Given the description of an element on the screen output the (x, y) to click on. 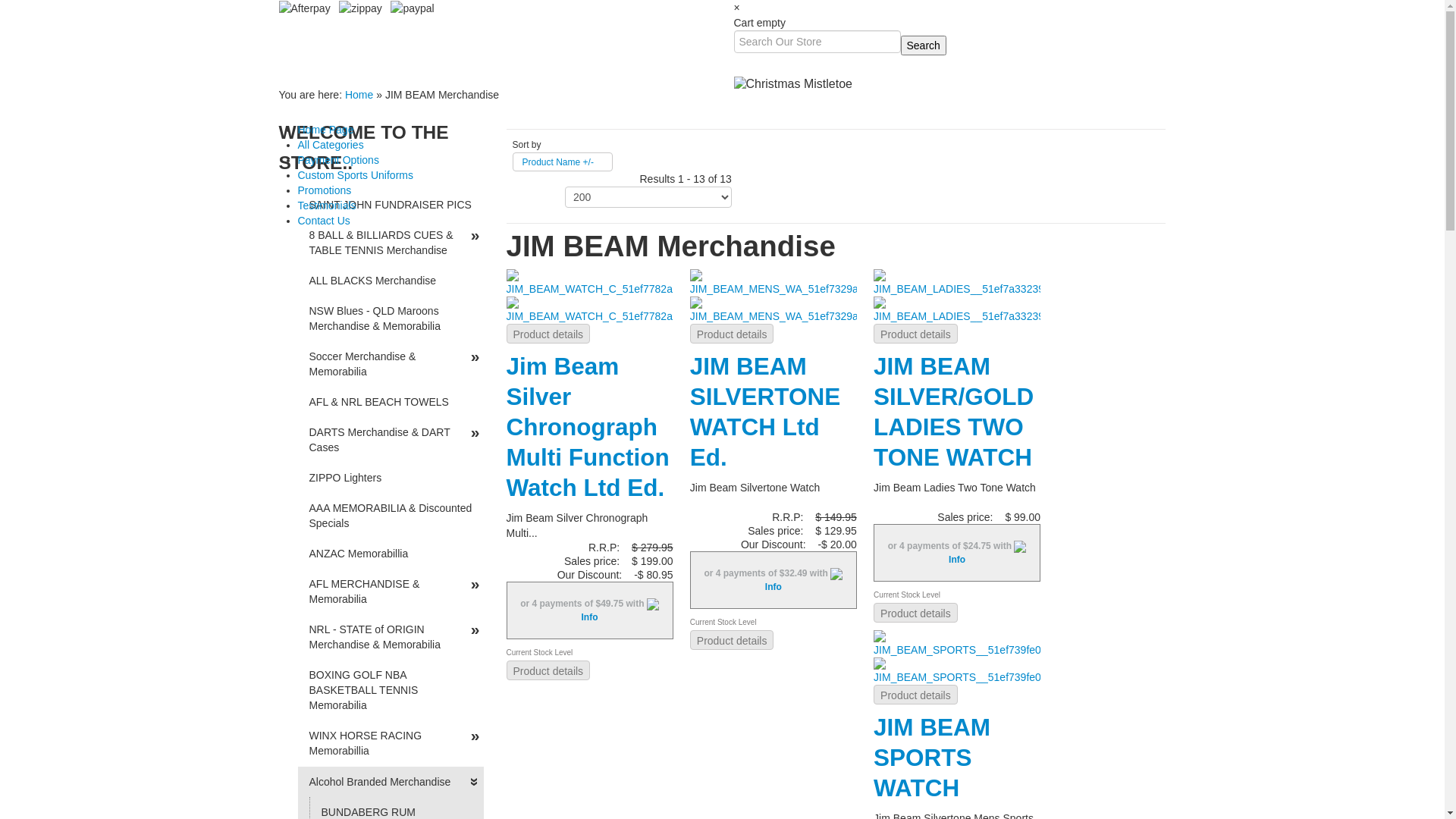
Alcohol Branded Merchandise Element type: text (390, 781)
JIM_BEAM_WATCH_C_51ef7782a1f2b.jpg Element type: hover (589, 309)
Custom Sports Uniforms Element type: text (354, 175)
   JIM BEAM SPORTS WATCH Element type: hover (956, 643)
Product details Element type: text (915, 612)
JIM BEAM SPORTS WATCH Element type: text (931, 757)
JIM BEAM SILVER/GOLD LADIES TWO TONE WATCH Element type: text (953, 411)
Info Element type: text (588, 616)
Info Element type: text (956, 559)
Product Name +/- Element type: text (557, 161)
We have plenty of stock for this product Element type: hover (646, 653)
8 BALL & BILLIARDS CUES & TABLE TENNIS Merchandise Element type: text (390, 242)
AAA MEMORABILIA & Discounted Specials Element type: text (390, 515)
Product details Element type: text (732, 333)
Product details Element type: text (548, 670)
   JIM BEAM SILVER/GOLD LADIES TWO TONE WATCH Element type: hover (956, 282)
Testimonials Element type: text (326, 205)
JIM_BEAM_MENS_WA_51ef7329a41c8.jpg Element type: hover (773, 309)
Soccer Merchandise & Memorabilia Element type: text (390, 363)
BOXING GOLF NBA BASKETBALL TENNIS Memorabilia Element type: text (390, 689)
Payment Options Element type: text (337, 159)
NSW Blues - QLD Maroons Merchandise & Memorabilia Element type: text (390, 318)
Search Element type: text (923, 45)
ZIPPO Lighters Element type: text (390, 477)
ANZAC Memorabillia Element type: text (390, 553)
AFL MERCHANDISE & Memorabilia Element type: text (390, 591)
DARTS Merchandise & DART Cases Element type: text (390, 439)
Product details Element type: text (915, 694)
    JIM BEAM SILVERTONE WATCH Ltd Ed. Element type: hover (773, 282)
Product details Element type: text (915, 333)
Home Page Element type: text (325, 129)
WINX HORSE RACING Memorabillia Element type: text (390, 742)
ALL BLACKS Merchandise Element type: text (390, 280)
NRL - STATE of ORIGIN Merchandise & Memorabilia Element type: text (390, 636)
JIM_BEAM_SPORTS__51ef739fe0dcb.jpg Element type: hover (956, 670)
JIM_BEAM_LADIES__51ef7a3323951.jpg Element type: hover (956, 309)
Contact Us Element type: text (323, 220)
SAINT JOHN FUNDRAISER PICS Element type: text (390, 204)
We have plenty of stock for this product Element type: hover (829, 623)
AFL & NRL BEACH TOWELS Element type: text (390, 401)
We have plenty of stock for this product Element type: hover (1013, 596)
Product details Element type: text (548, 333)
Home Element type: text (359, 94)
Jim Beam Silver Chronograph Multi Function Watch Ltd Ed. Element type: text (587, 426)
Product details Element type: text (732, 639)
Promotions Element type: text (324, 190)
JIM BEAM SILVERTONE WATCH Ltd Ed. Element type: text (765, 411)
Info Element type: text (773, 586)
All Categories Element type: text (330, 144)
